Given the description of an element on the screen output the (x, y) to click on. 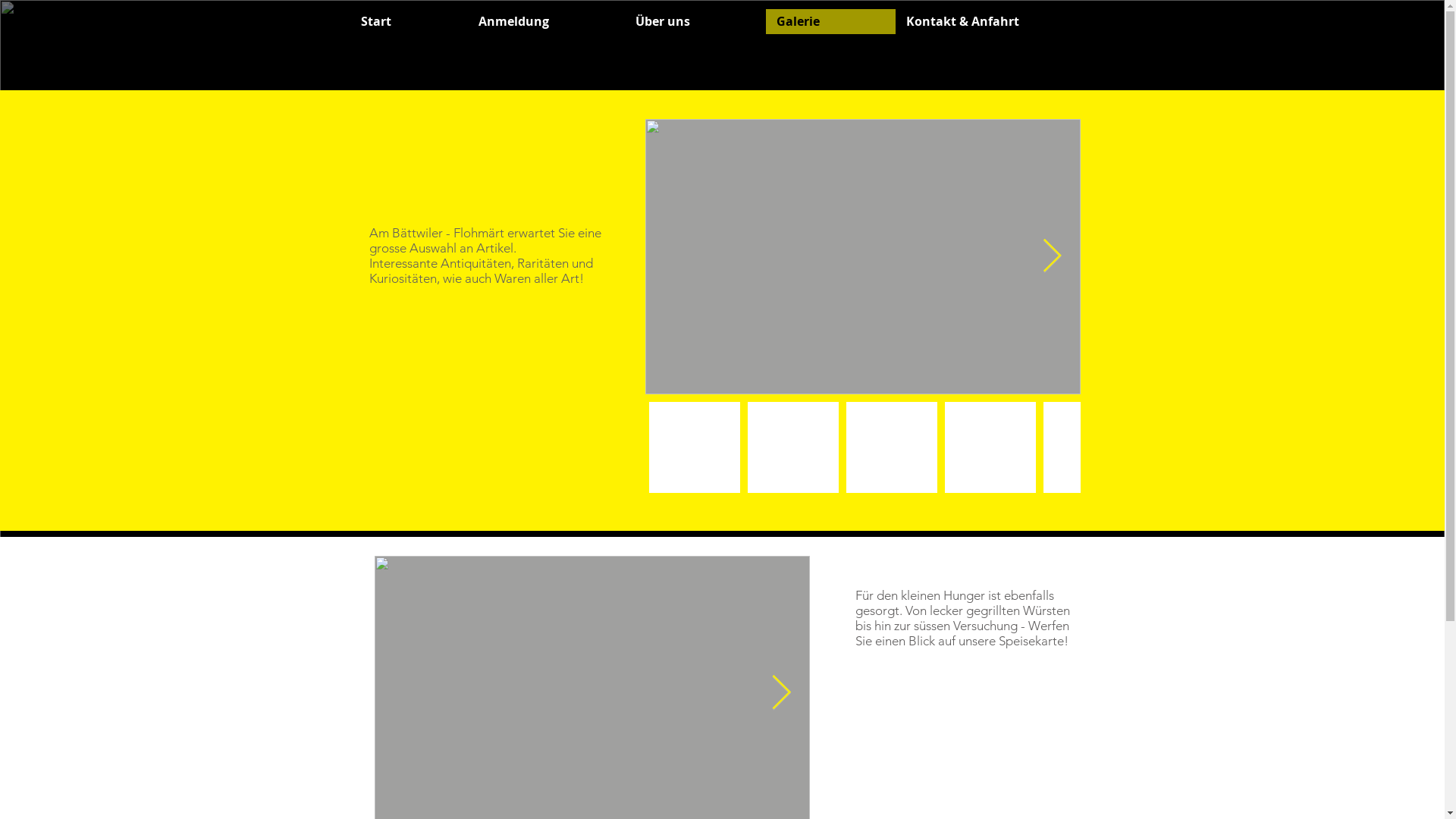
Kontakt & Anfahrt Element type: text (994, 21)
Galerie Element type: text (830, 21)
Start Element type: text (408, 21)
Anmeldung Element type: text (545, 21)
